Given the description of an element on the screen output the (x, y) to click on. 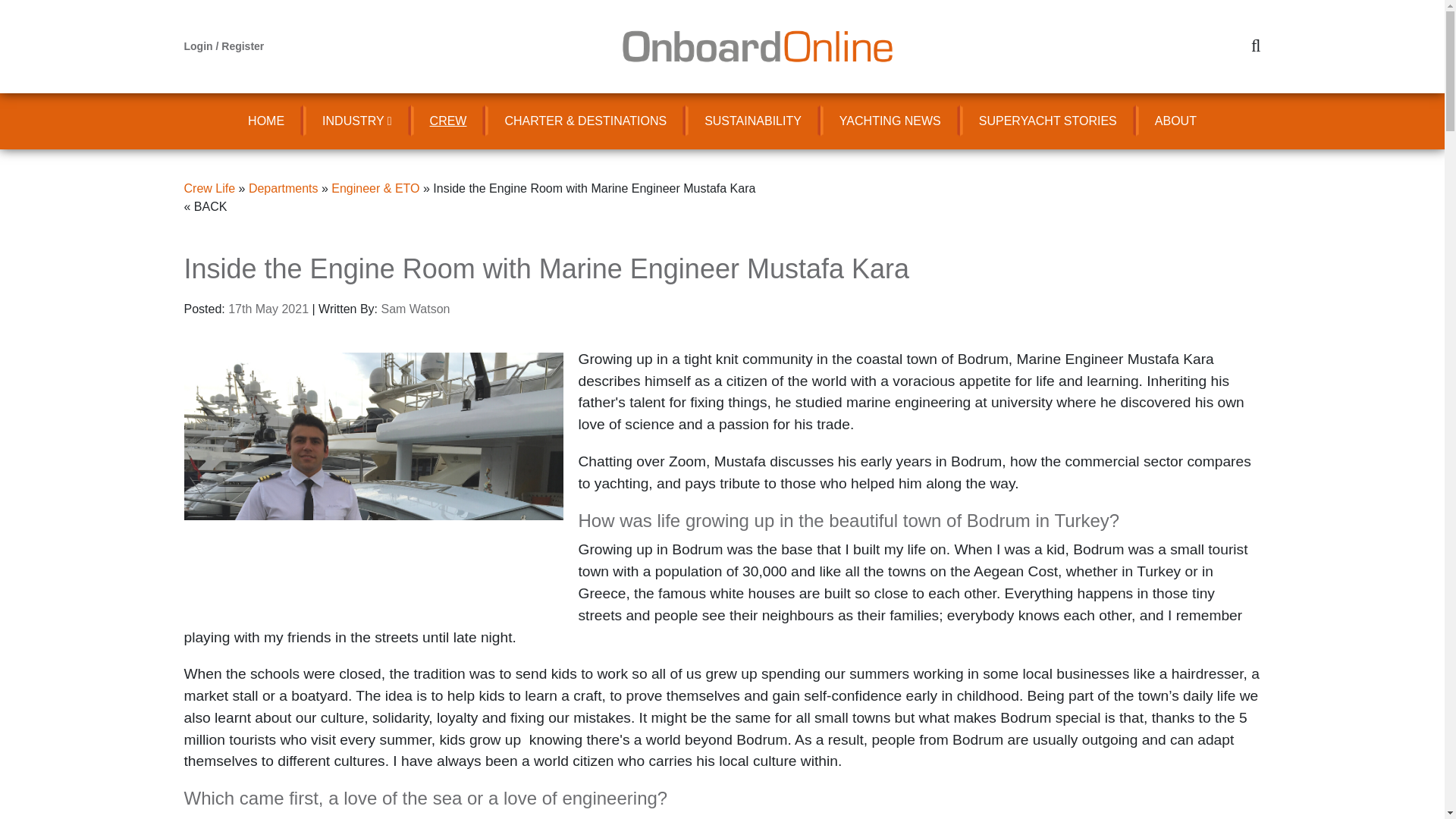
Home (265, 121)
SUSTAINABILITY (753, 121)
HOME (265, 121)
SUPERYACHT STORIES (1047, 121)
YACHTING NEWS (890, 121)
INDUSTRY (356, 121)
ABOUT (1175, 121)
Yachting News (890, 121)
Departments (283, 187)
Superyacht Stories (1047, 121)
